Given the description of an element on the screen output the (x, y) to click on. 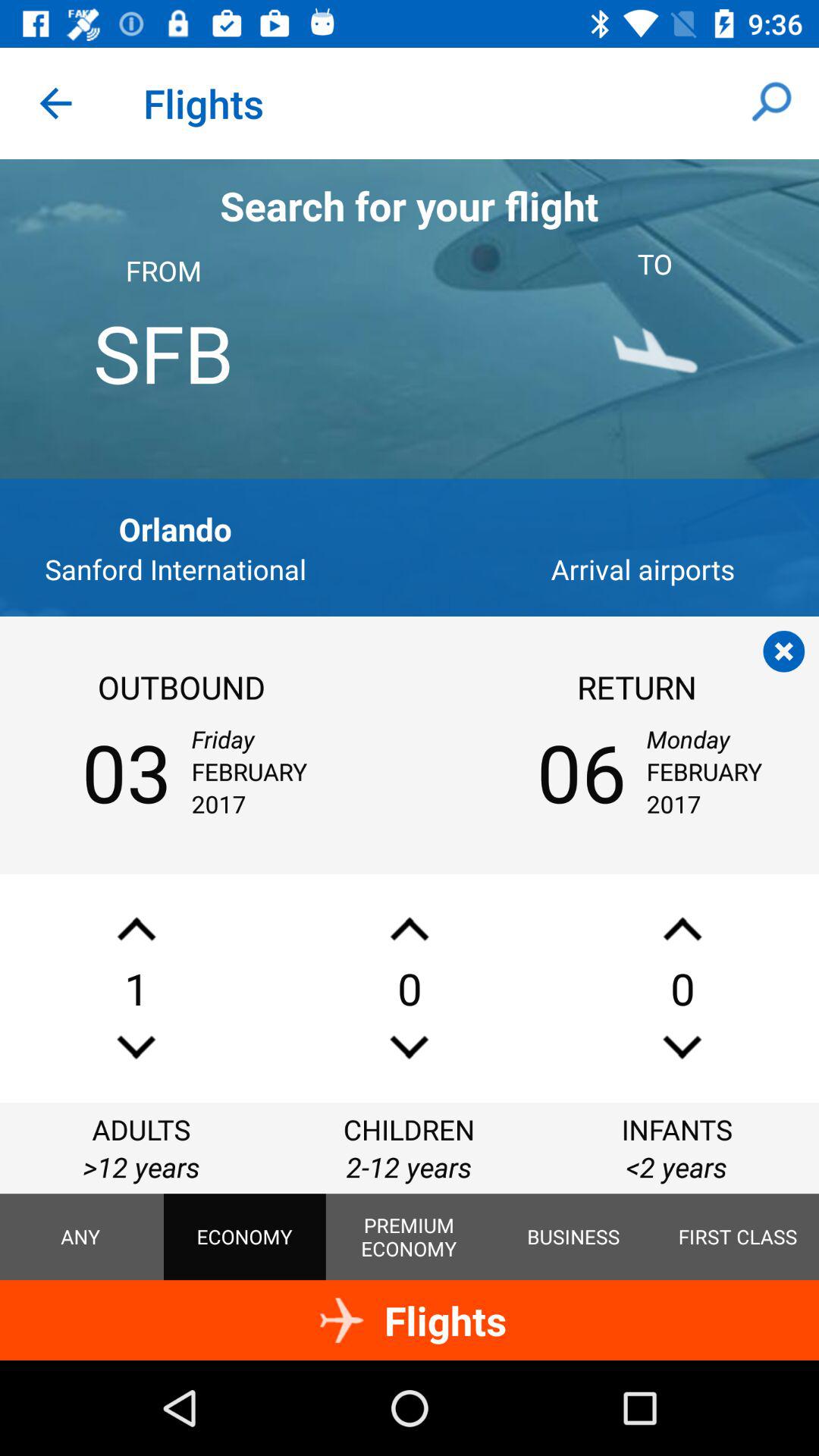
press icon next to flights (55, 103)
